Given the description of an element on the screen output the (x, y) to click on. 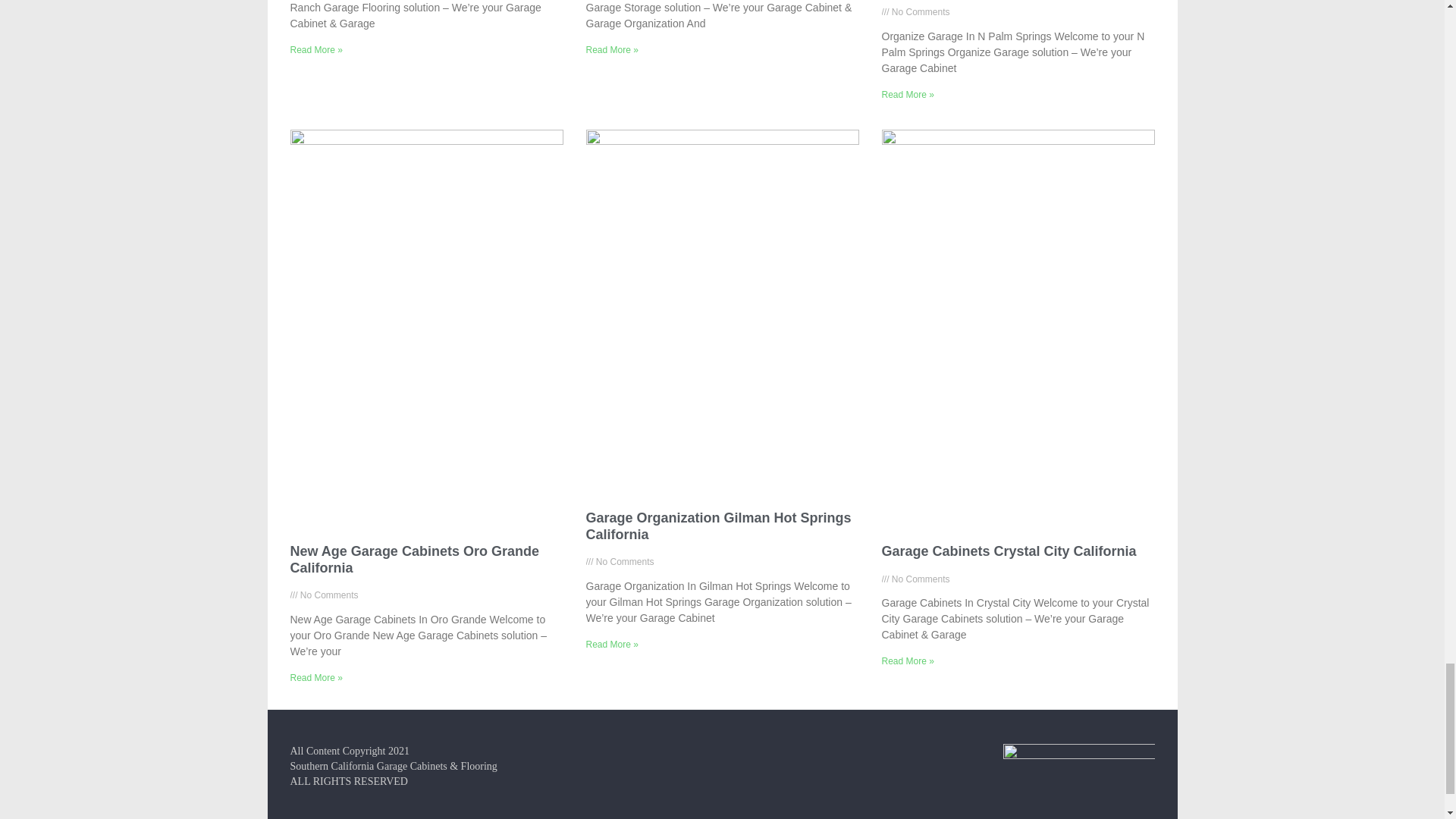
New Age Garage Cabinets Oro Grande California (413, 559)
Garage Cabinets Crystal City California (1007, 550)
Garage Organization Gilman Hot Springs California (717, 526)
